Given the description of an element on the screen output the (x, y) to click on. 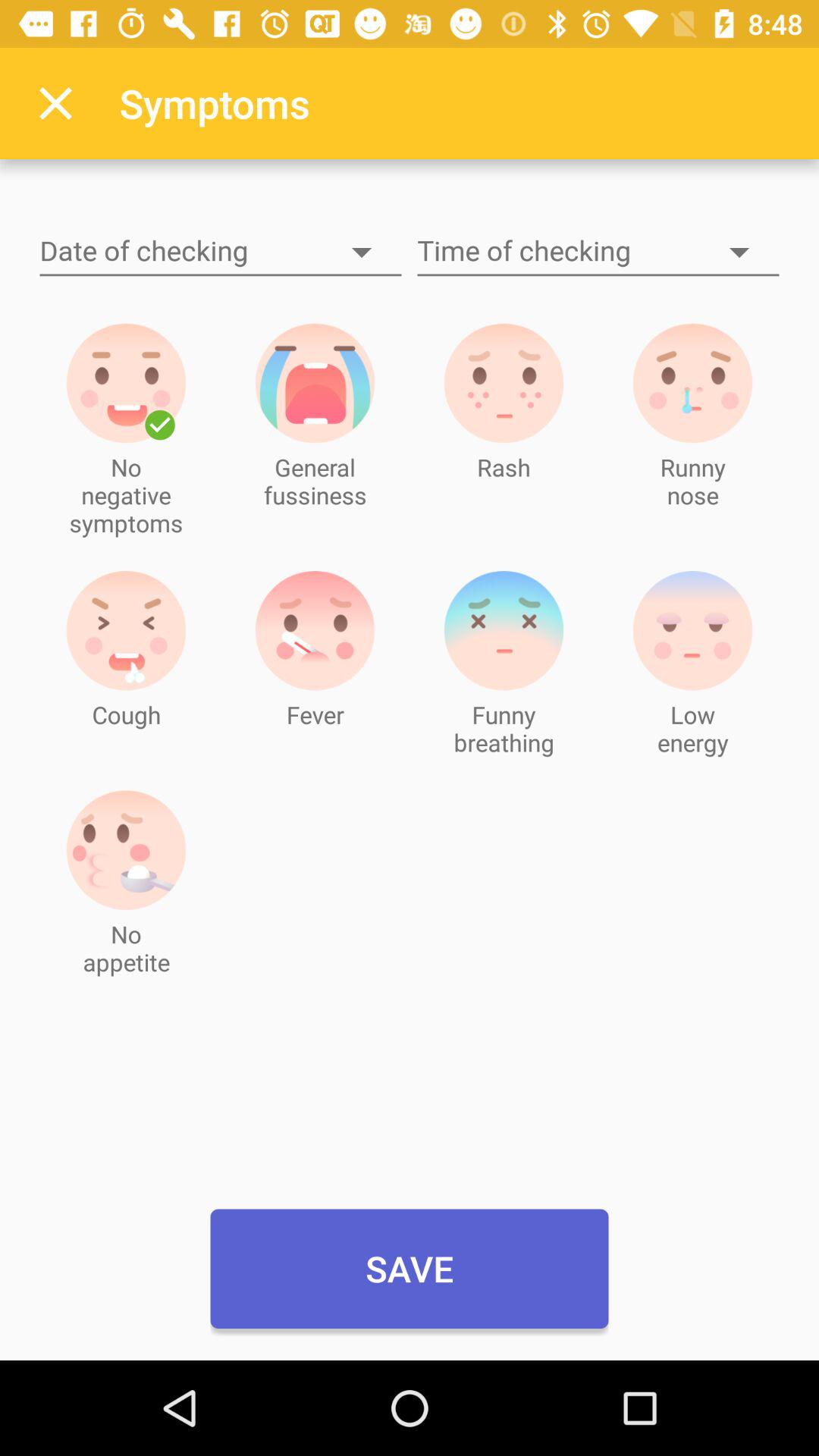
tap save icon (409, 1268)
